Given the description of an element on the screen output the (x, y) to click on. 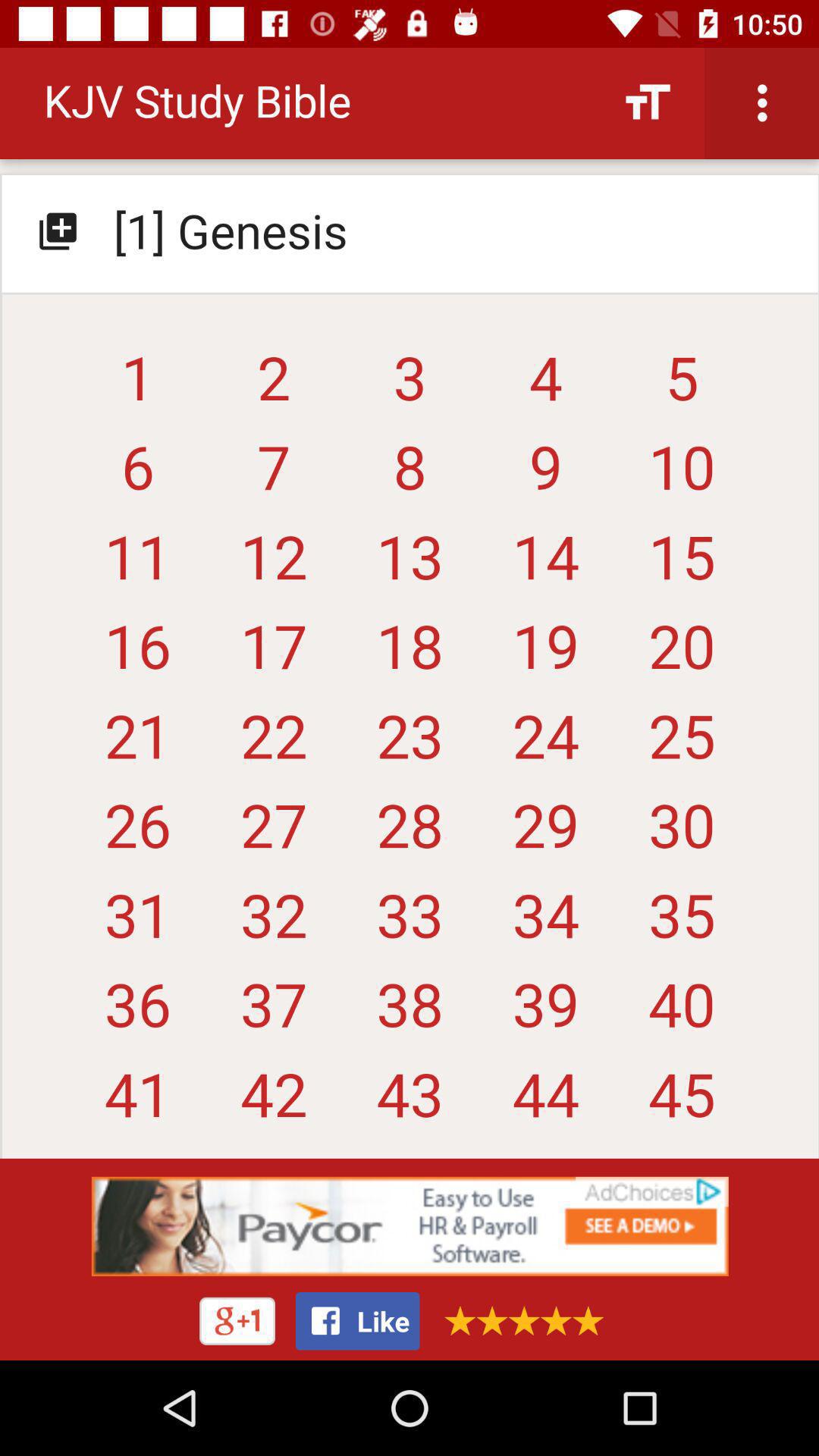
view study bible (409, 609)
